Given the description of an element on the screen output the (x, y) to click on. 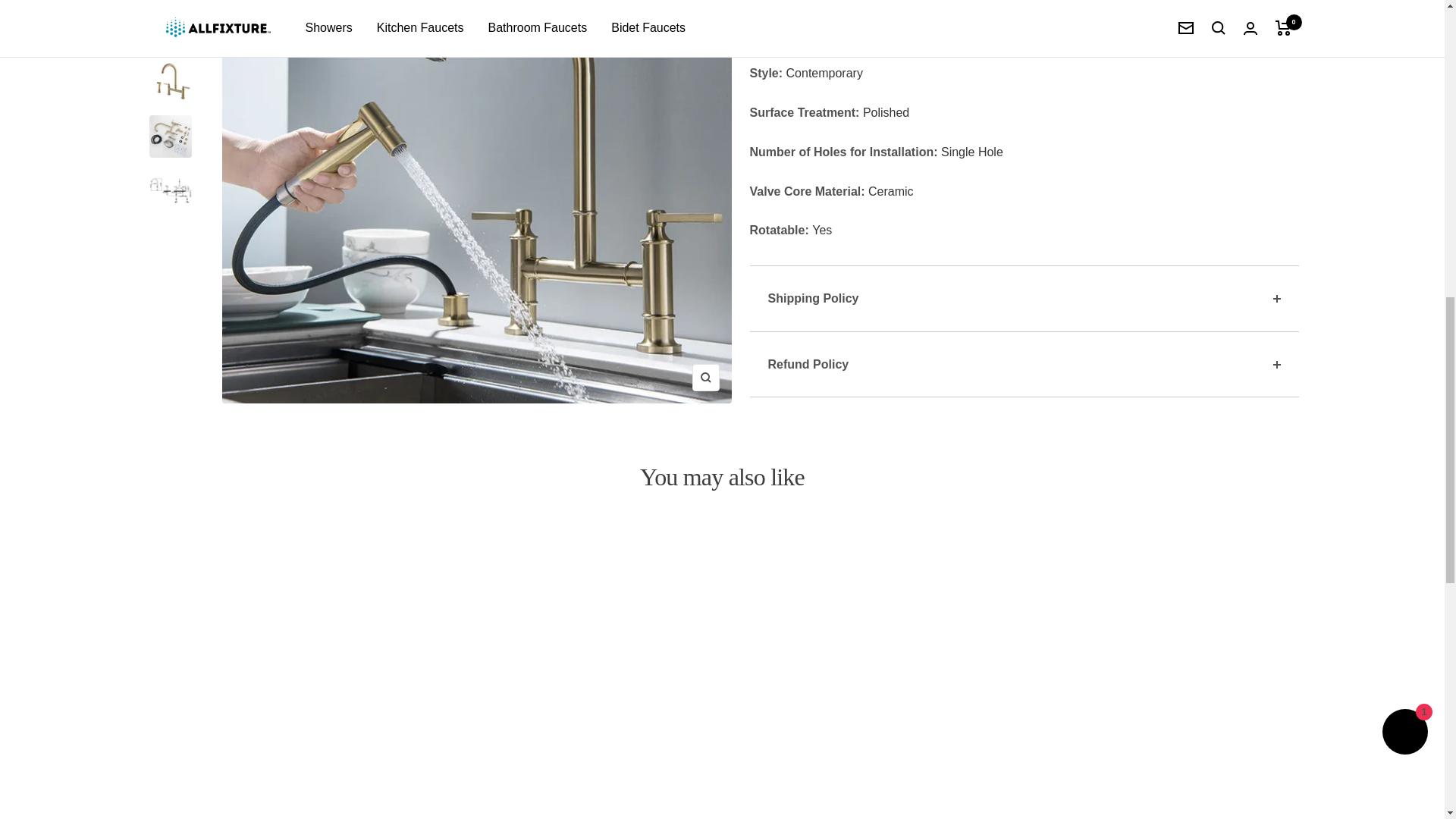
Shipping Policy (1023, 298)
Refund Policy (1023, 364)
